Given the description of an element on the screen output the (x, y) to click on. 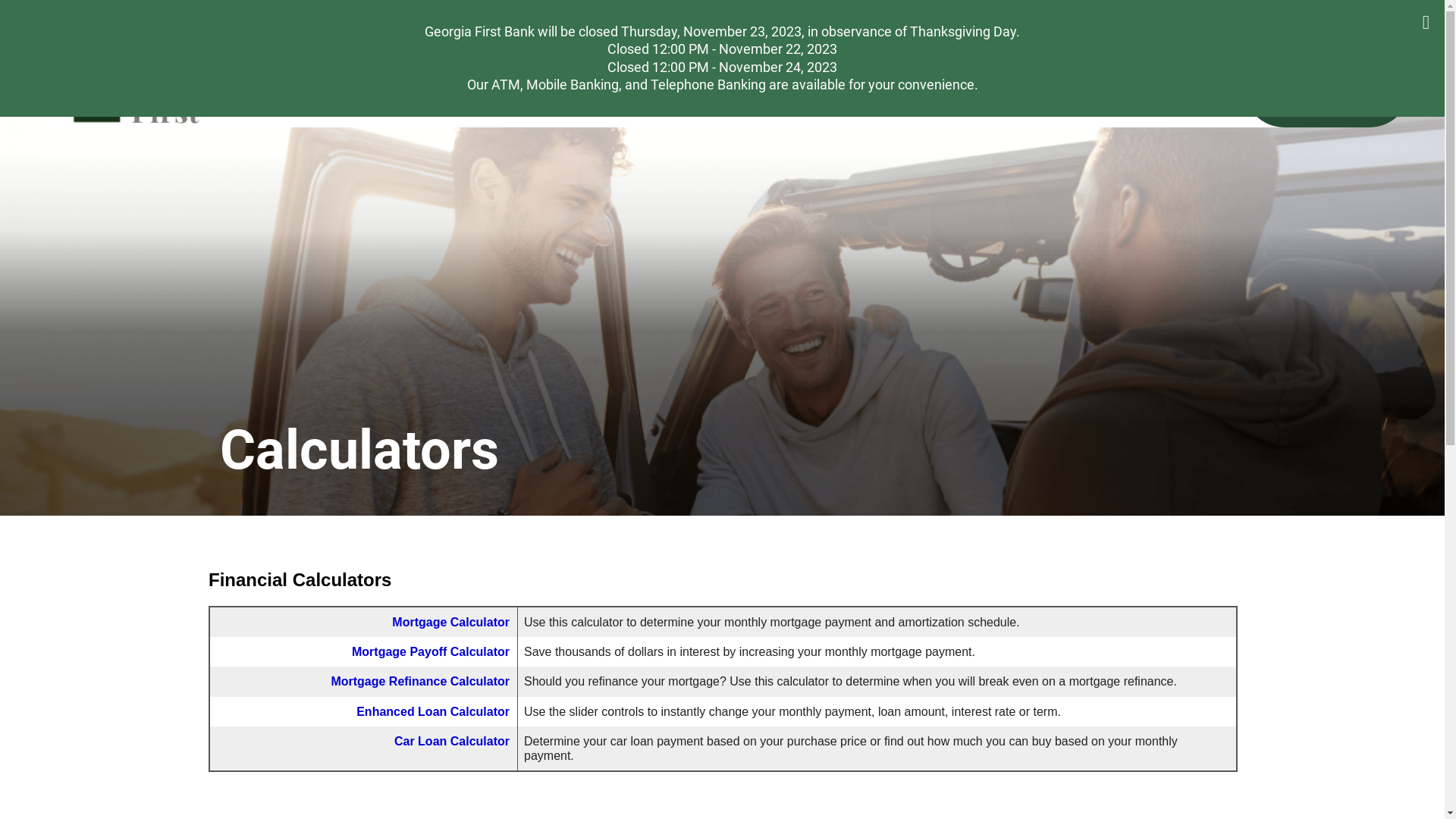
LOGIN Element type: text (1326, 86)
Mortgage Payoff Calculator Element type: text (363, 723)
About Element type: text (1248, 22)
Contact Us Element type: text (1376, 22)
Lending
Services Element type: text (979, 86)
Careers Element type: text (1305, 22)
Personal
Banking Element type: text (698, 86)
Mortgage Calculator Element type: text (363, 694)
Digital
Banking Element type: text (1115, 86)
Business
Banking Element type: text (839, 86)
